Given the description of an element on the screen output the (x, y) to click on. 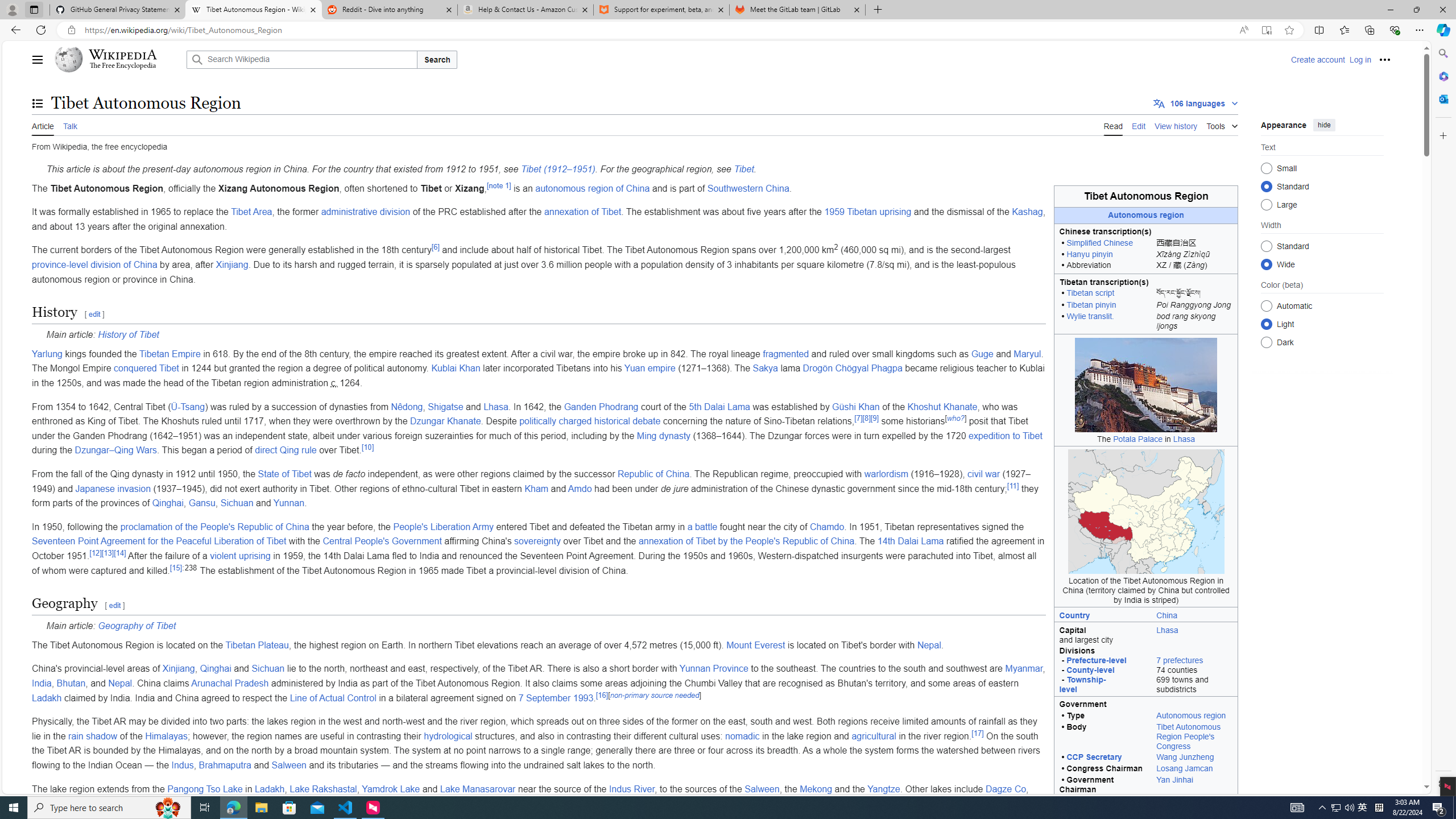
Yangtze (883, 788)
Lhasa (1194, 634)
a battle (702, 526)
Mekong (815, 788)
Automatic (1266, 305)
The Potala Palace in Lhasa (1145, 384)
Dzungar Khanate (445, 421)
Indus (182, 764)
Republic of China (653, 474)
Lhasa (495, 406)
County-level (1090, 669)
